Given the description of an element on the screen output the (x, y) to click on. 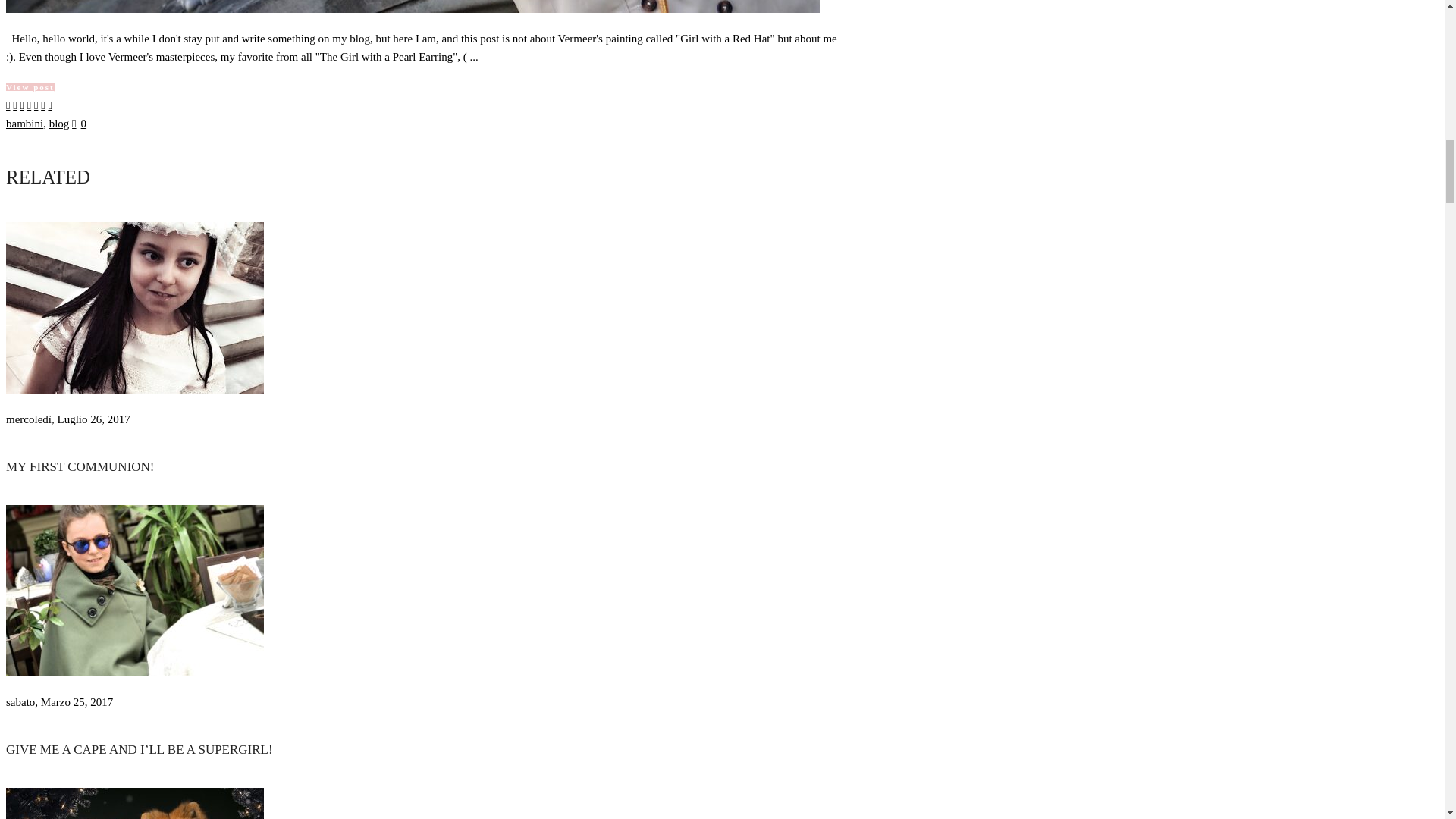
Like this (78, 123)
View post (30, 86)
My first communion! (134, 389)
THE GIRL WITH A RED HAT! (412, 9)
bambini (24, 123)
